Given the description of an element on the screen output the (x, y) to click on. 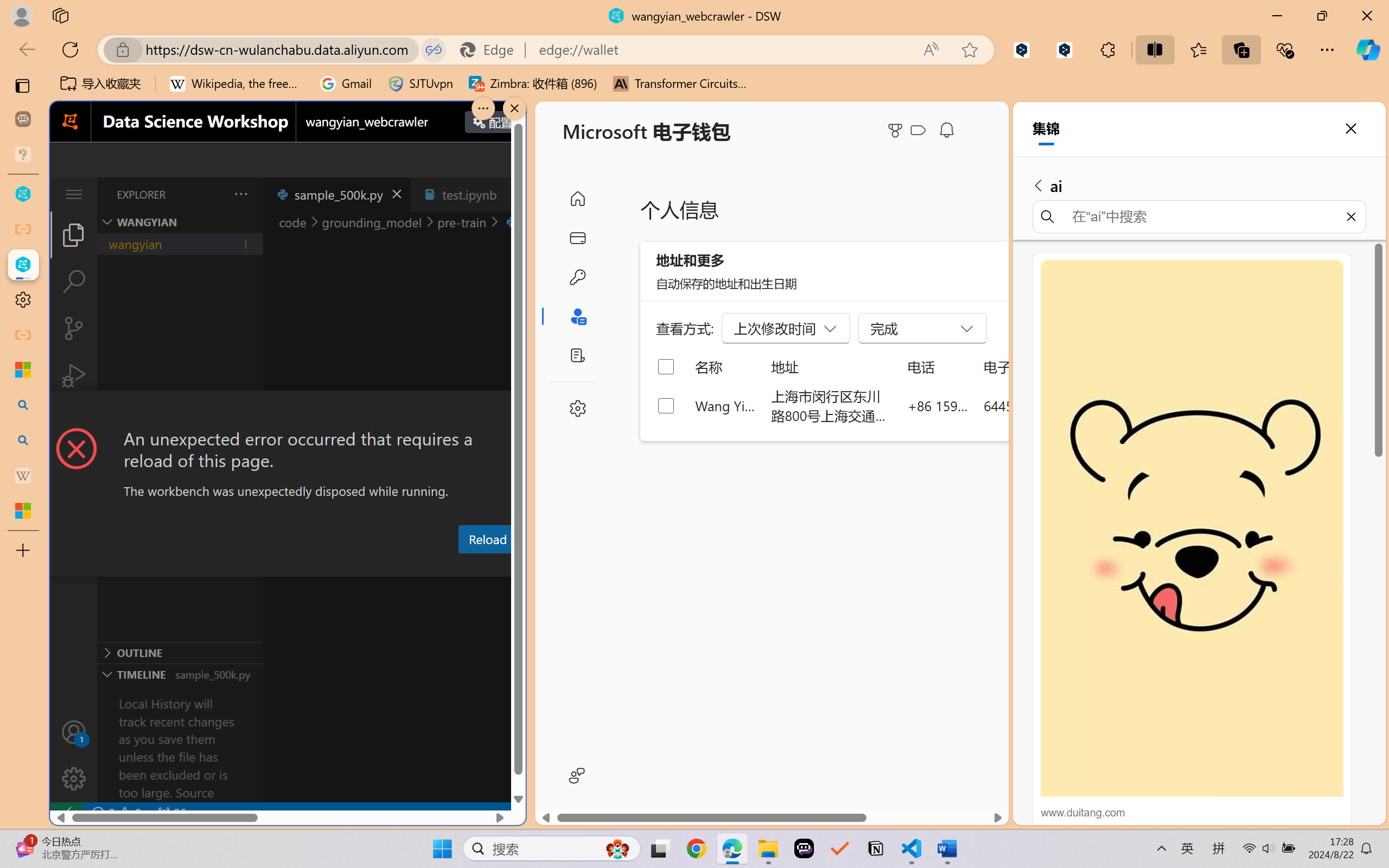
Output (Ctrl+Shift+U) (377, 565)
Tab actions (512, 194)
Reload (486, 538)
